Given the description of an element on the screen output the (x, y) to click on. 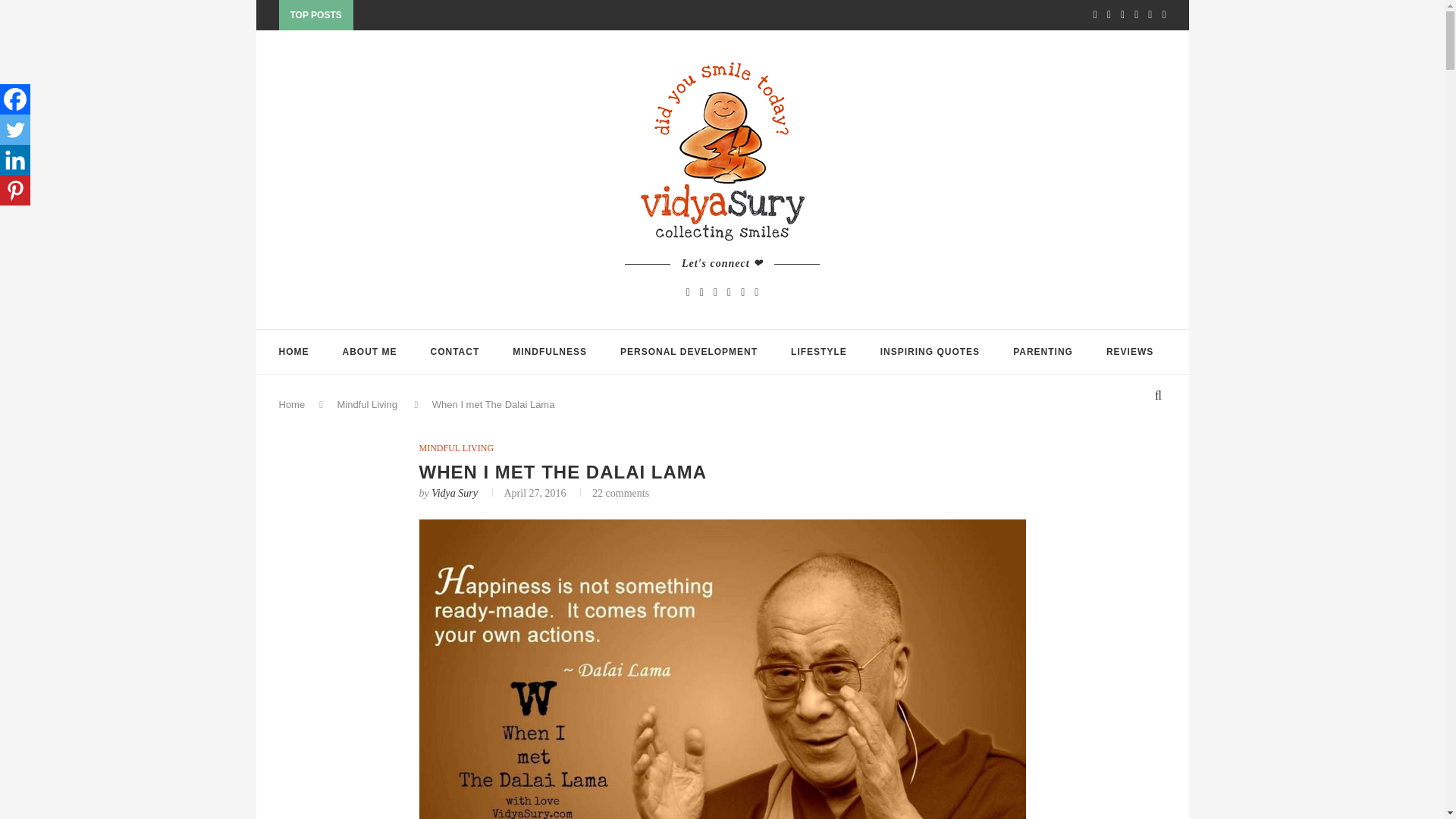
Facebook (15, 99)
Twitter (15, 129)
Pinterest (15, 190)
View all posts in Mindful Living (456, 448)
Linkedin (15, 159)
